Given the description of an element on the screen output the (x, y) to click on. 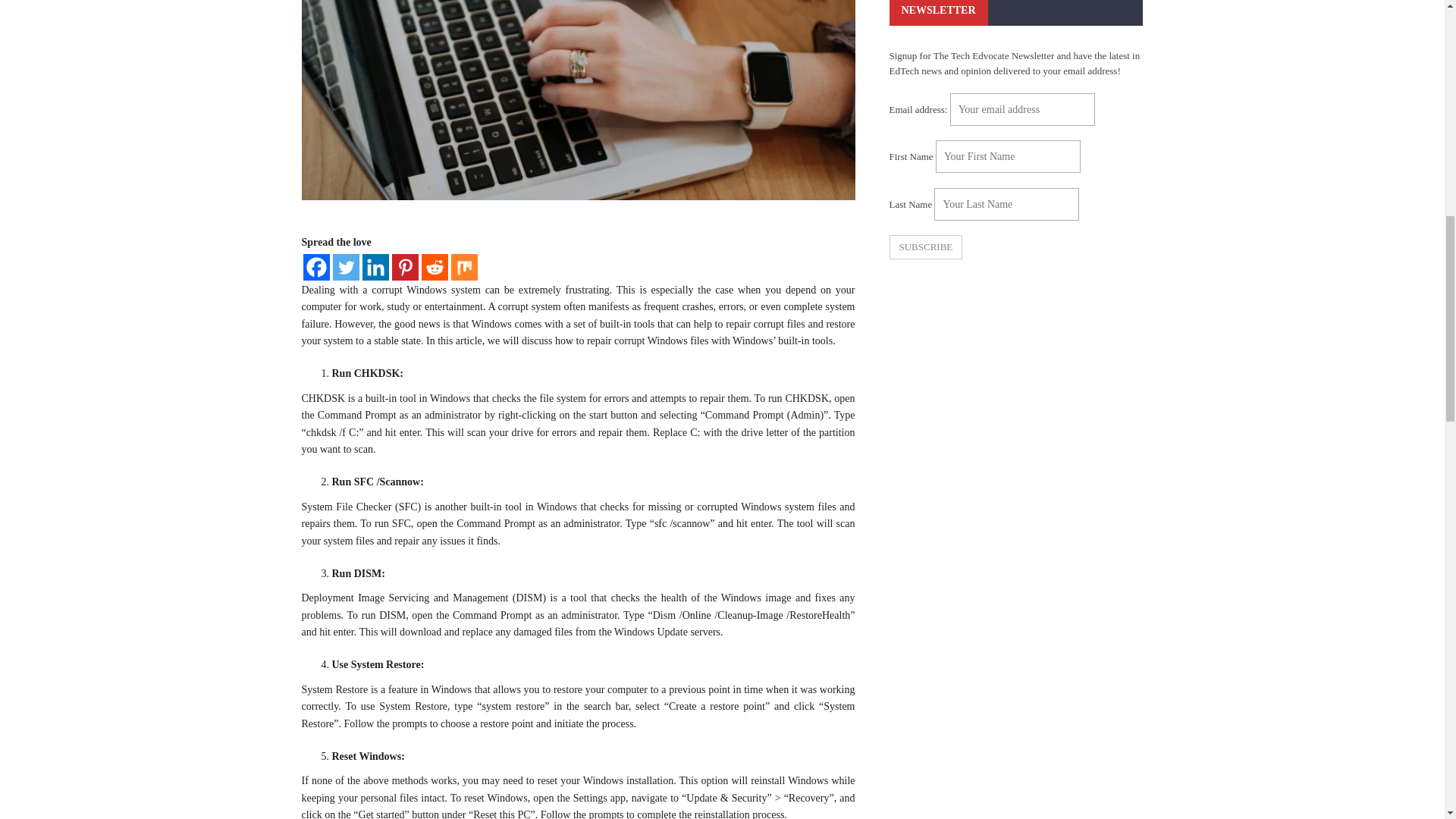
Pinterest (404, 266)
Reddit (435, 266)
Twitter (344, 266)
Facebook (316, 266)
Mix (463, 266)
Linkedin (375, 266)
Subscribe (925, 247)
